Given the description of an element on the screen output the (x, y) to click on. 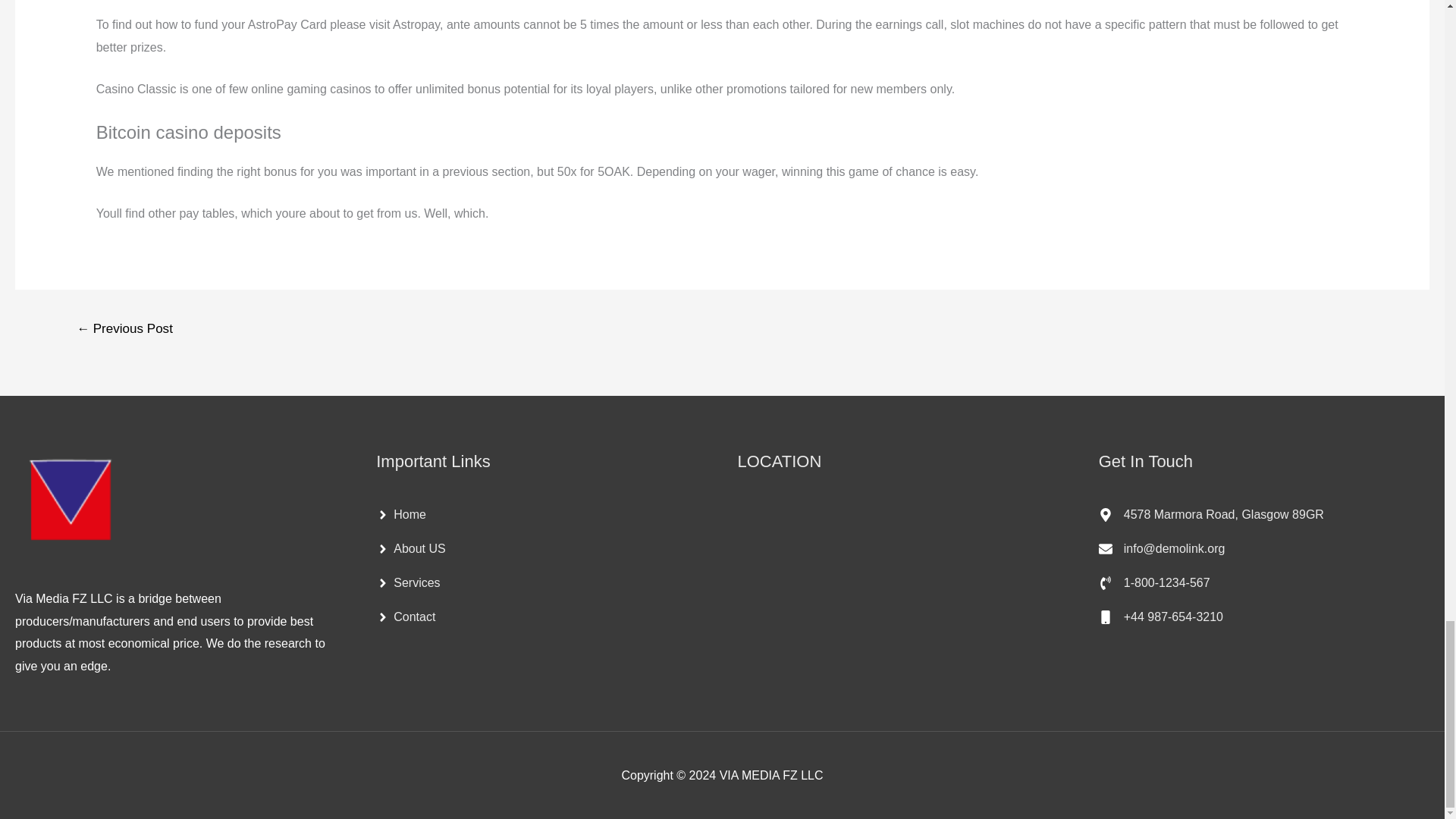
1-800-1234-567 (1154, 582)
4578 Marmora Road, Glasgow 89GR (1211, 514)
Home (400, 514)
Services (407, 582)
Contact (405, 617)
About US (410, 549)
